Given the description of an element on the screen output the (x, y) to click on. 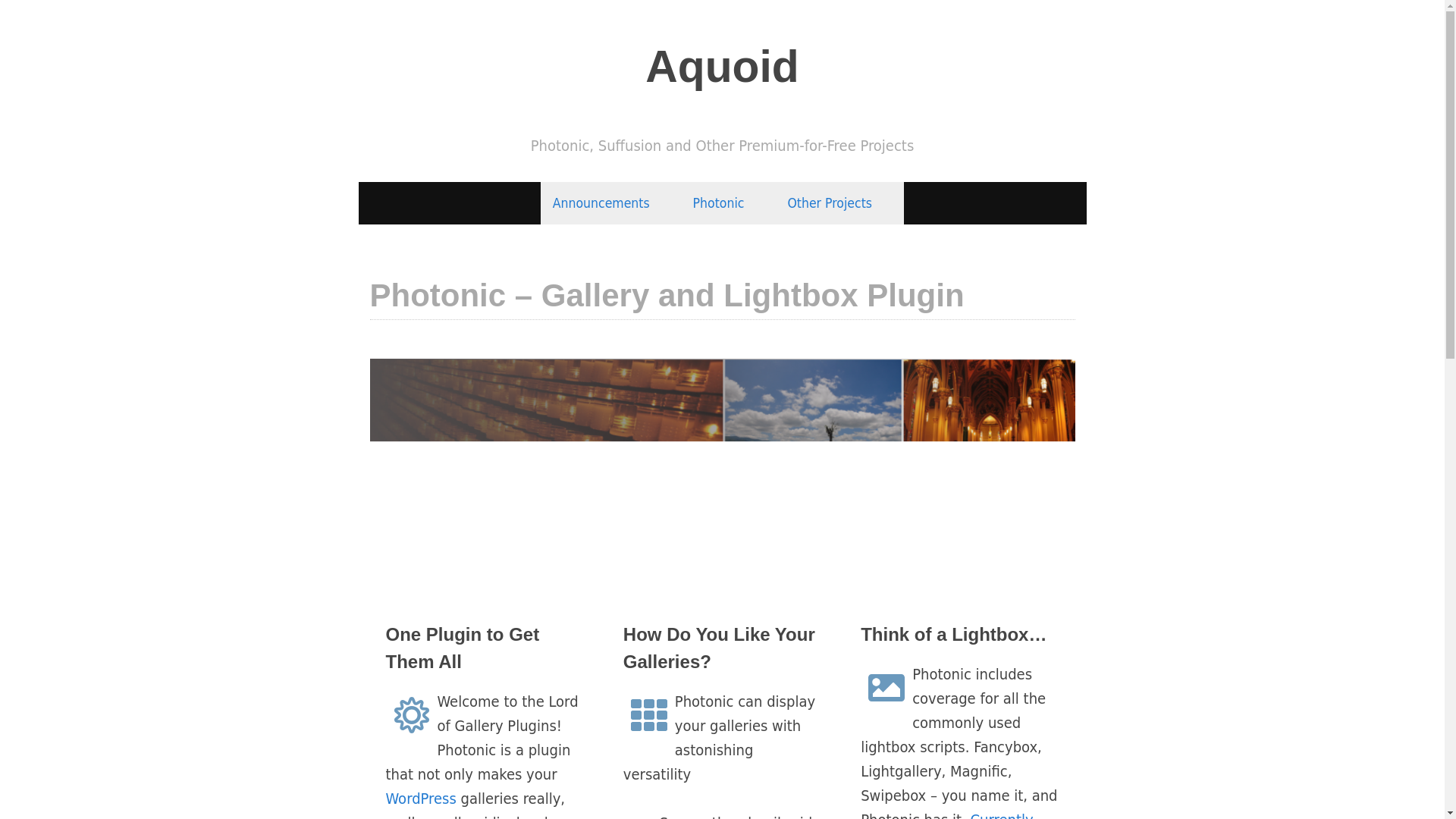
Aquoid (721, 65)
Announcements (611, 203)
Photonic (728, 203)
Currently supporting 19 scripts (946, 814)
WordPress (420, 798)
Other Projects (839, 203)
